Given the description of an element on the screen output the (x, y) to click on. 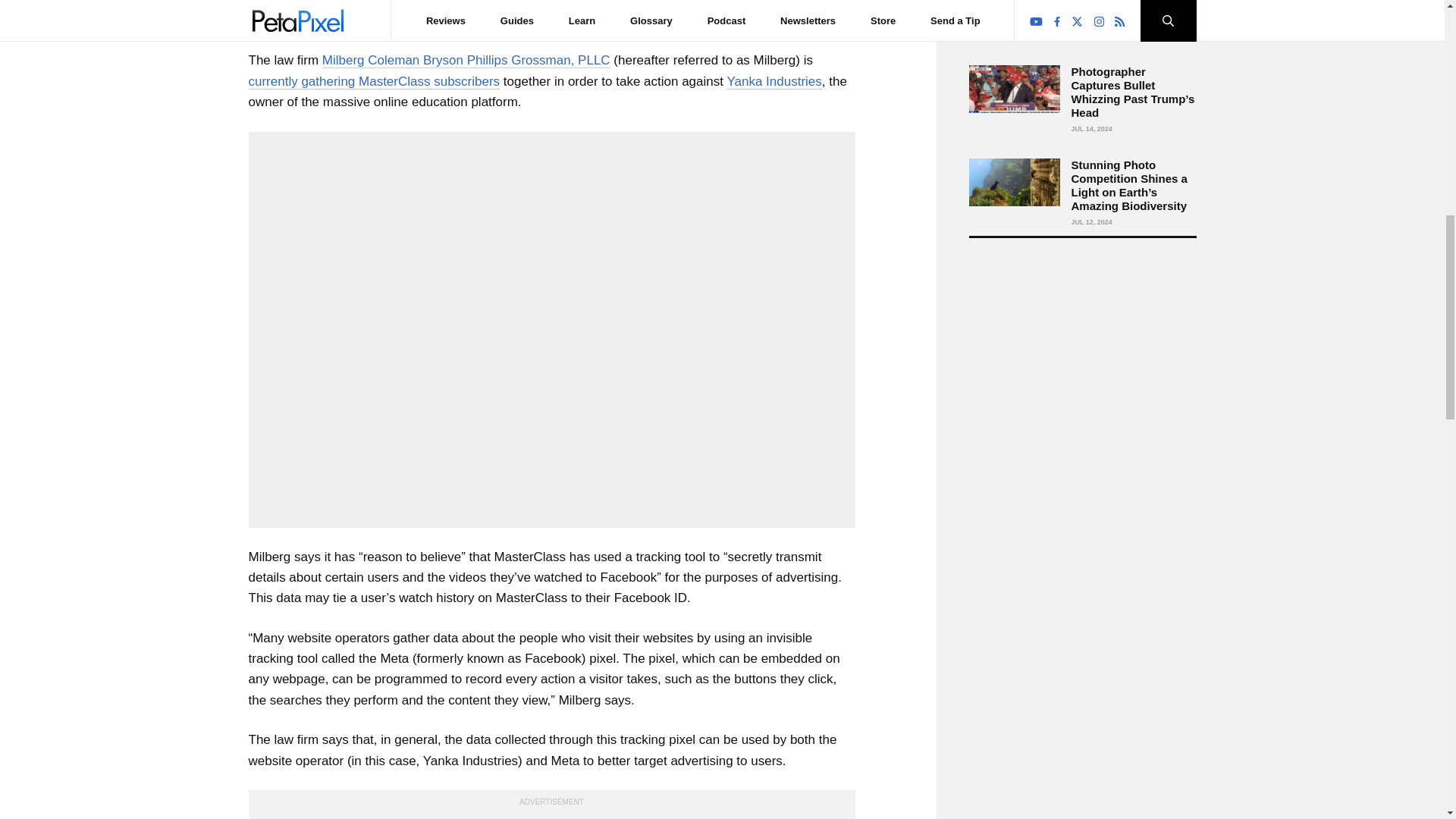
Martin Scorsese (478, 20)
Annie Leibovitz (702, 4)
Werner Herzog (577, 20)
Jimmy Chin (809, 4)
Milberg Coleman Bryson Phillips Grossman, PLLC (465, 60)
many more (684, 20)
Yanka Industries (773, 81)
currently gathering MasterClass subscribers (374, 81)
